Given the description of an element on the screen output the (x, y) to click on. 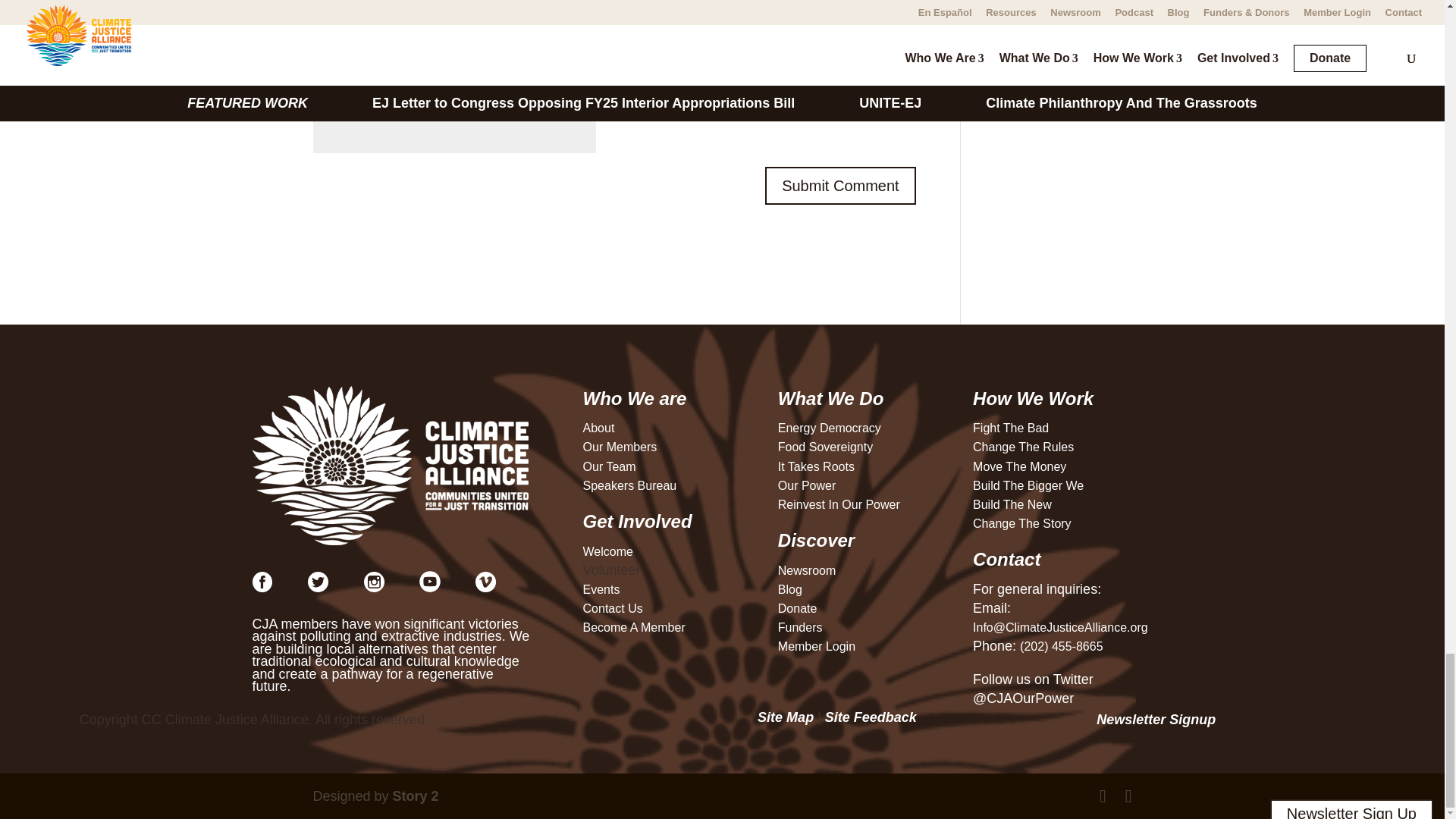
English500OneColorCJALogo (391, 465)
Submit Comment (840, 185)
